Given the description of an element on the screen output the (x, y) to click on. 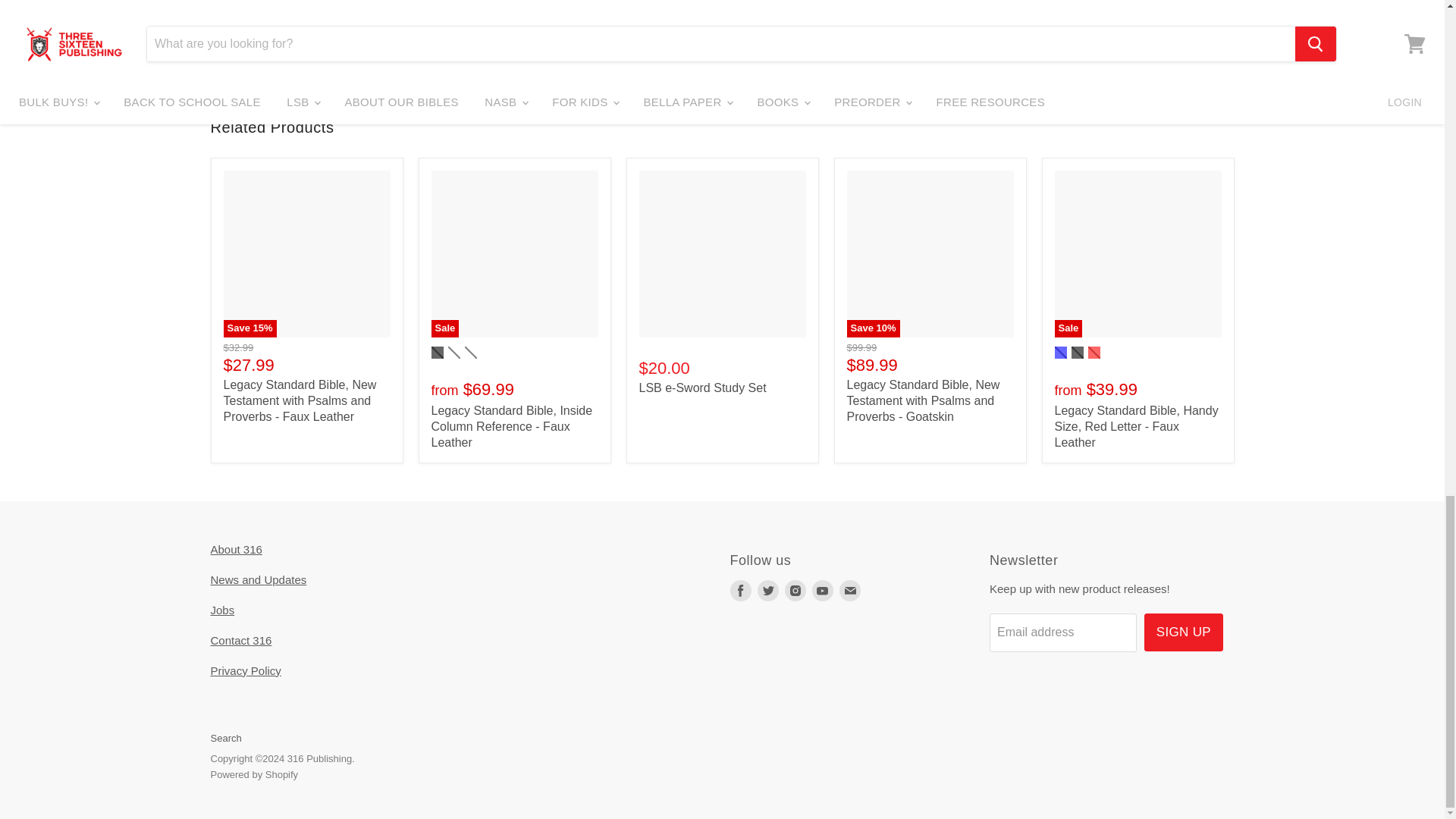
Jobs (222, 609)
Youtube (821, 590)
Twitter (767, 590)
E-mail (849, 590)
Instagram (794, 590)
Privacy Policy (246, 670)
About 316 Publishing (236, 549)
Facebook (740, 590)
